Given the description of an element on the screen output the (x, y) to click on. 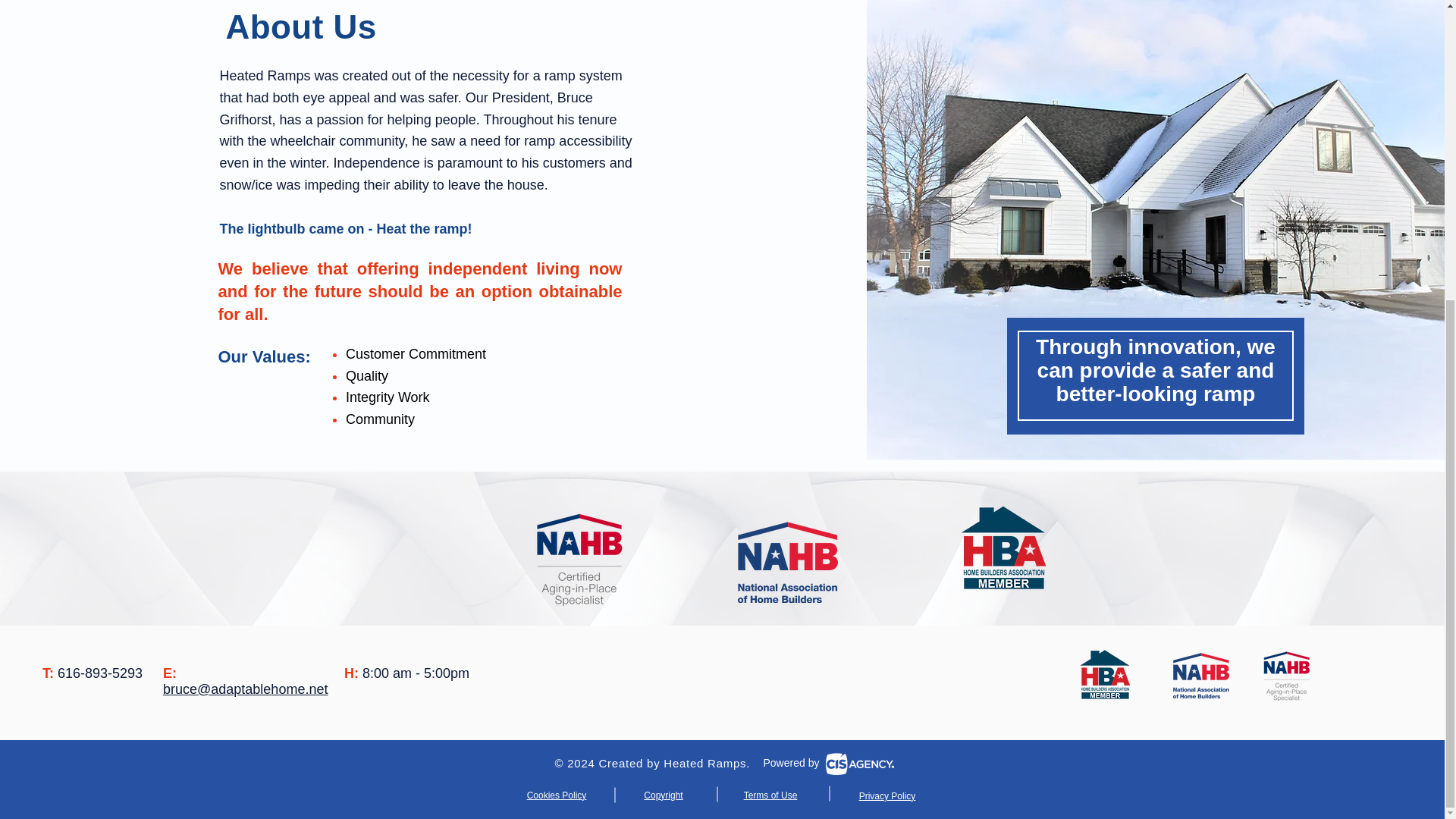
Privacy Policy (887, 796)
Copyright (662, 794)
Terms of Use (770, 794)
Cookies Policy (556, 794)
